Given the description of an element on the screen output the (x, y) to click on. 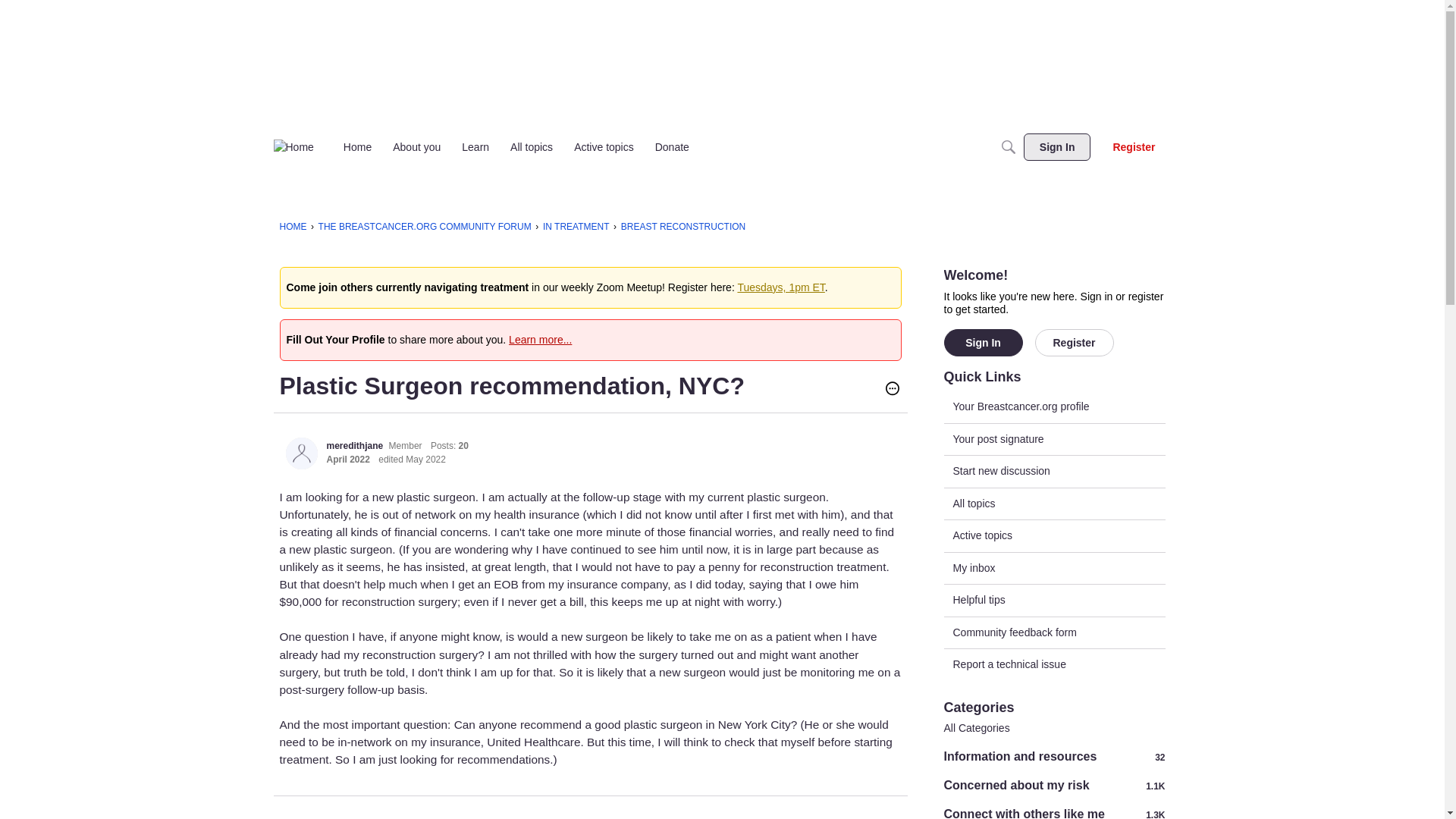
Sign In (982, 342)
Your Breastcancer.org profile (1053, 407)
April 25, 2022 10:39PM (347, 459)
Learn more... (540, 339)
Start new discussion (1053, 471)
Register (1073, 342)
meredithjane (354, 445)
Register (1073, 342)
My inbox (1053, 567)
Sign In (1056, 146)
meredithjane (301, 453)
All topics (531, 146)
Tuesdays, 1pm ET (780, 287)
32 discussions (1159, 757)
